Given the description of an element on the screen output the (x, y) to click on. 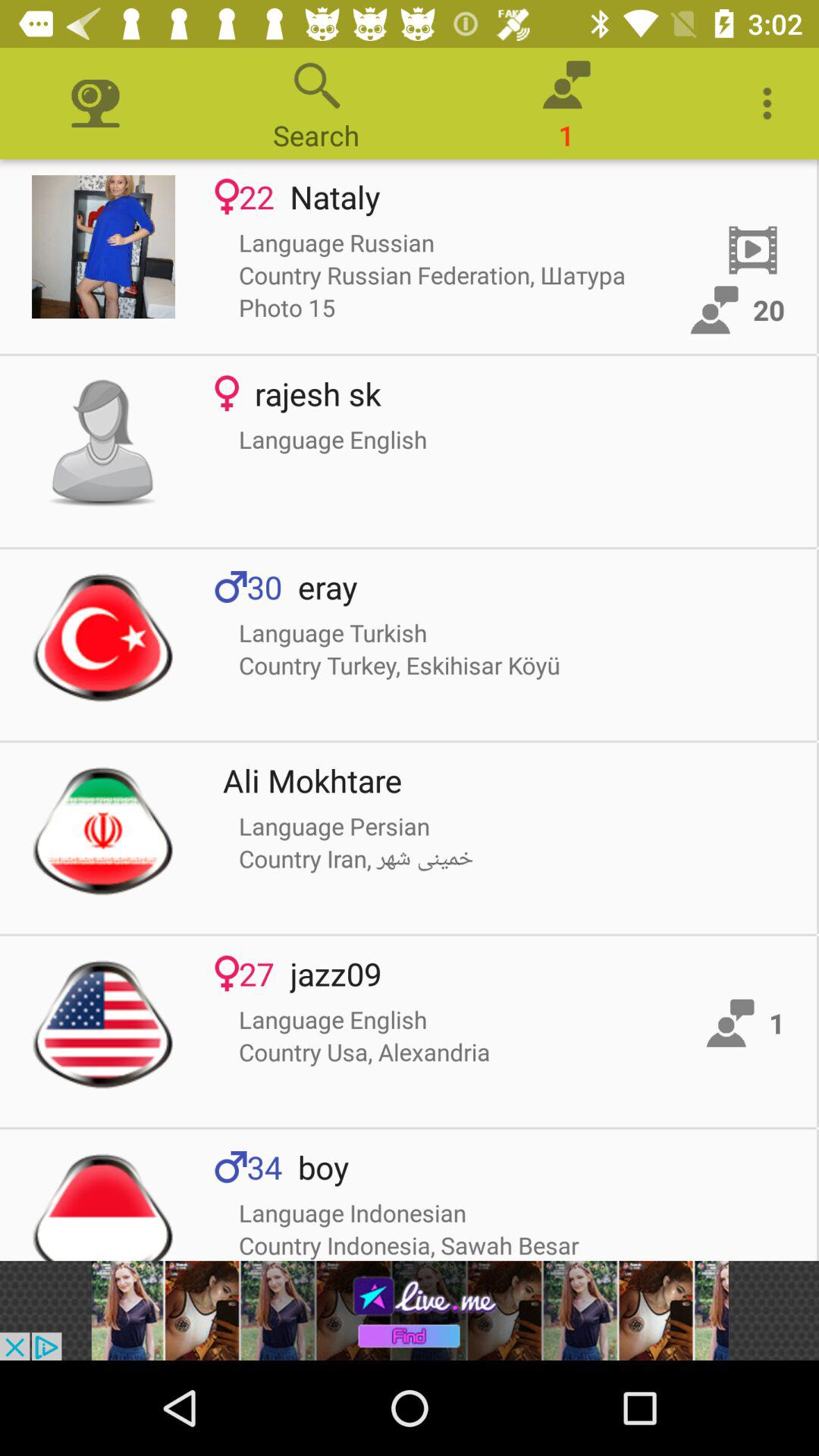
click for more info (103, 830)
